Given the description of an element on the screen output the (x, y) to click on. 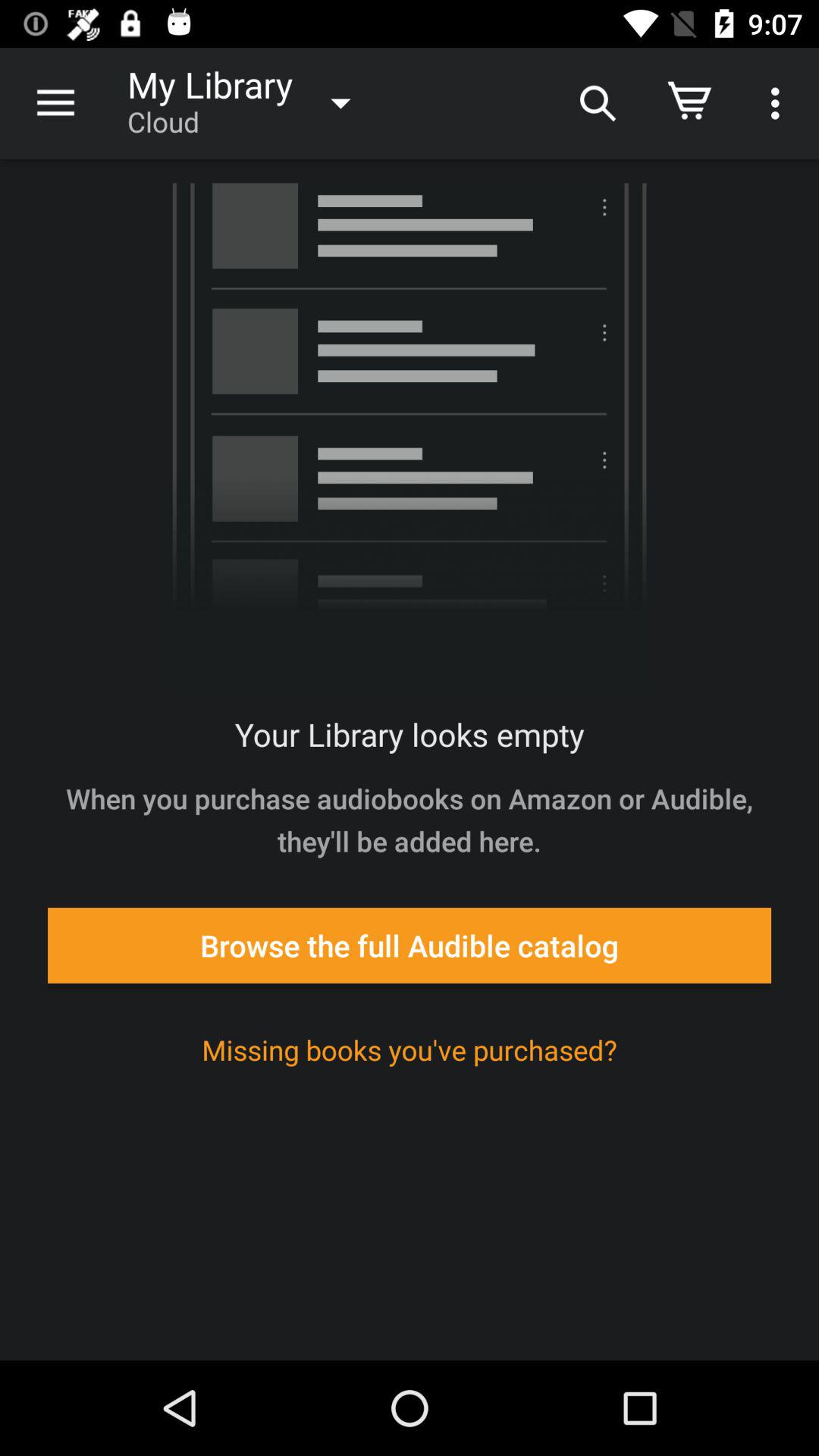
select icon below when you purchase (409, 945)
